Given the description of an element on the screen output the (x, y) to click on. 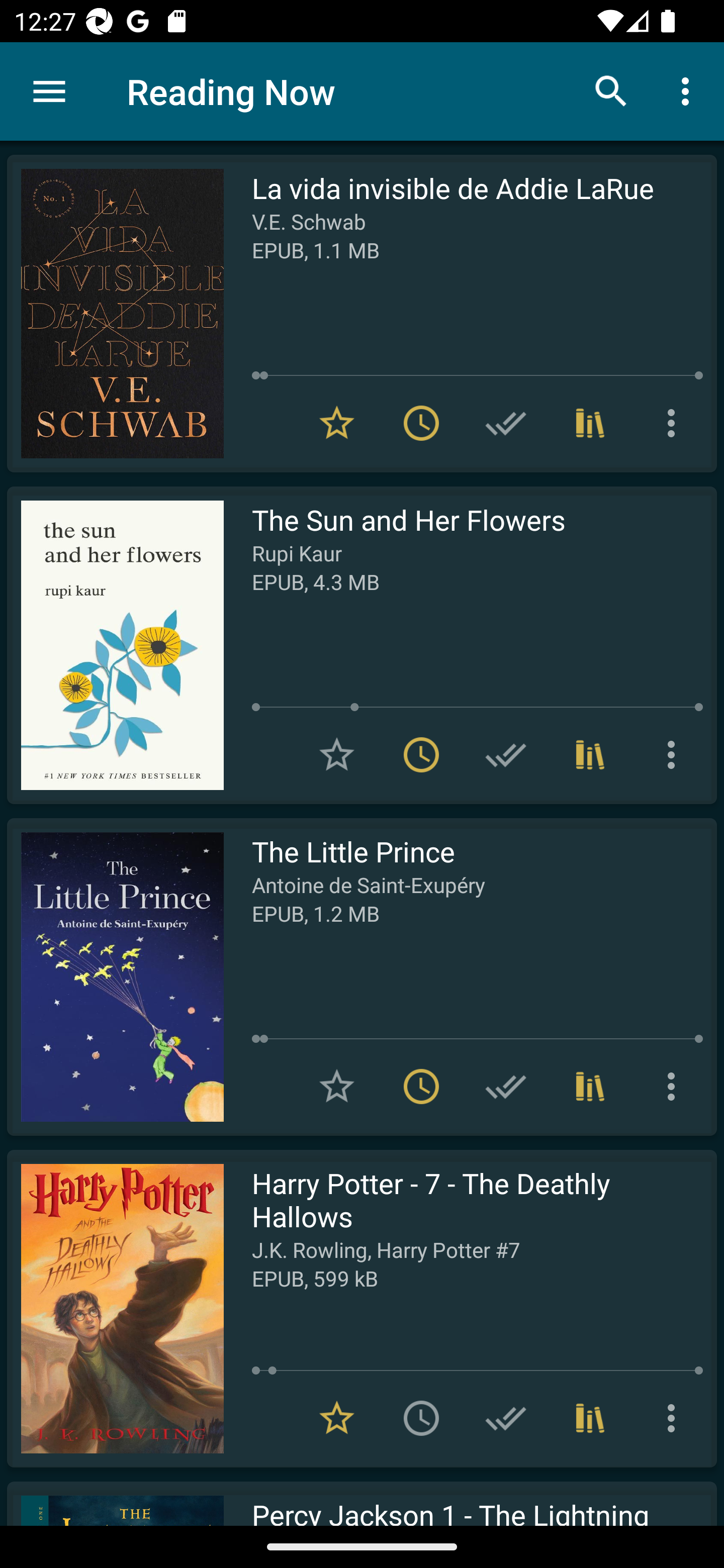
Menu (49, 91)
Search books & documents (611, 90)
More options (688, 90)
Read La vida invisible de Addie LaRue (115, 313)
Remove from Favorites (336, 423)
Remove from To read (421, 423)
Add to Have read (505, 423)
Collections (1) (590, 423)
More options (674, 423)
Read The Sun and Her Flowers (115, 645)
Add to Favorites (336, 753)
Remove from To read (421, 753)
Add to Have read (505, 753)
Collections (1) (590, 753)
More options (674, 753)
Read The Little Prince (115, 976)
Add to Favorites (336, 1086)
Remove from To read (421, 1086)
Add to Have read (505, 1086)
Collections (1) (590, 1086)
More options (674, 1086)
Read Harry Potter - 7 - The Deathly Hallows (115, 1308)
Remove from Favorites (336, 1417)
Add to To read (421, 1417)
Add to Have read (505, 1417)
Collections (2) (590, 1417)
More options (674, 1417)
